Given the description of an element on the screen output the (x, y) to click on. 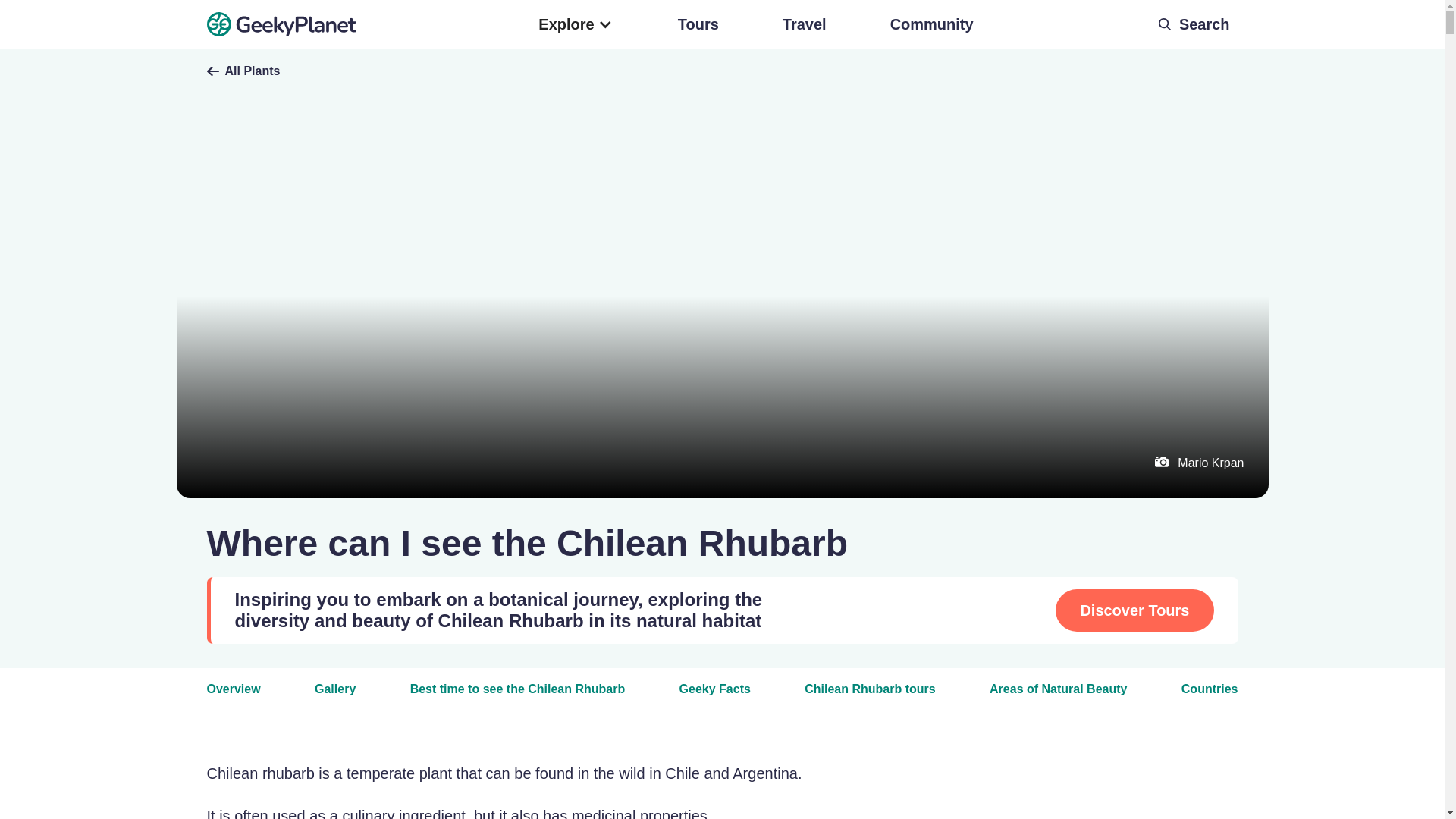
Gallery (334, 695)
Areas of Natural Beauty (1058, 695)
Discover Tours (1133, 609)
Countries (1209, 695)
Travel (804, 24)
Search (1196, 24)
Community (931, 24)
Tours (697, 24)
Chilean Rhubarb tours (869, 694)
All Plants (721, 70)
Geeky Facts (715, 695)
Overview (233, 695)
Best time to see the Chilean Rhubarb (518, 694)
